Given the description of an element on the screen output the (x, y) to click on. 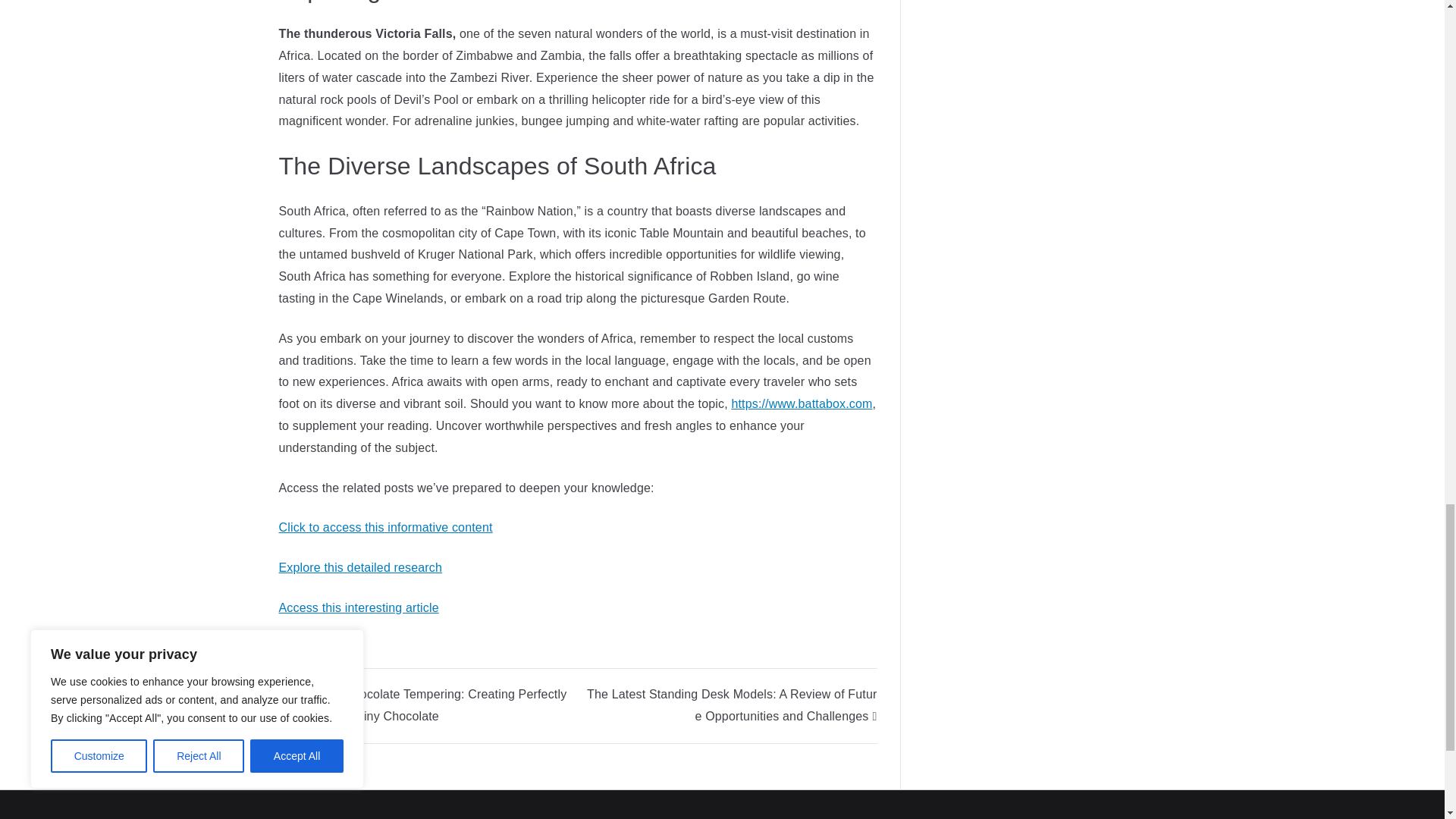
Click to access this informative content (386, 526)
Explore this detailed research (360, 567)
Access this interesting article (359, 607)
